Given the description of an element on the screen output the (x, y) to click on. 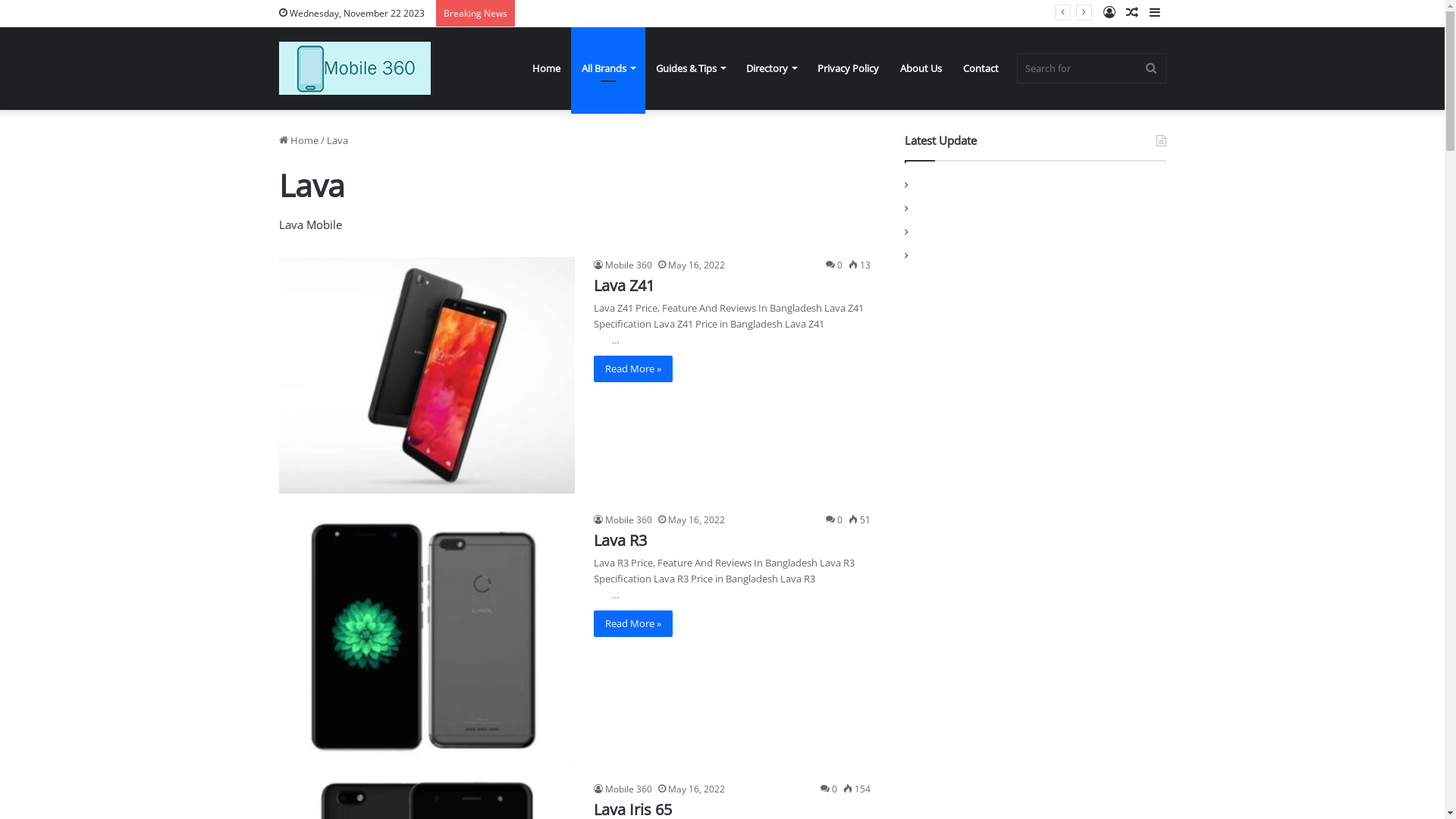
Random Article Element type: text (1131, 13)
Log In Element type: text (1109, 13)
Mobile 360 Element type: text (622, 788)
Home Element type: text (298, 140)
Mobile 360 Element type: text (622, 264)
Advertisement Element type: hover (1035, 407)
Privacy Policy Element type: text (847, 67)
Lava R3 Element type: text (619, 540)
Guides & Tips Element type: text (689, 67)
All Brands Element type: text (607, 67)
Contact Element type: text (980, 67)
Search for Element type: hover (1090, 68)
Home Element type: text (546, 67)
Directory Element type: text (770, 67)
About Us Element type: text (919, 67)
Lava Z41 Element type: text (623, 285)
Sidebar Element type: text (1154, 13)
Mobile 360 Element type: text (622, 519)
Search for Element type: text (1150, 67)
